Given the description of an element on the screen output the (x, y) to click on. 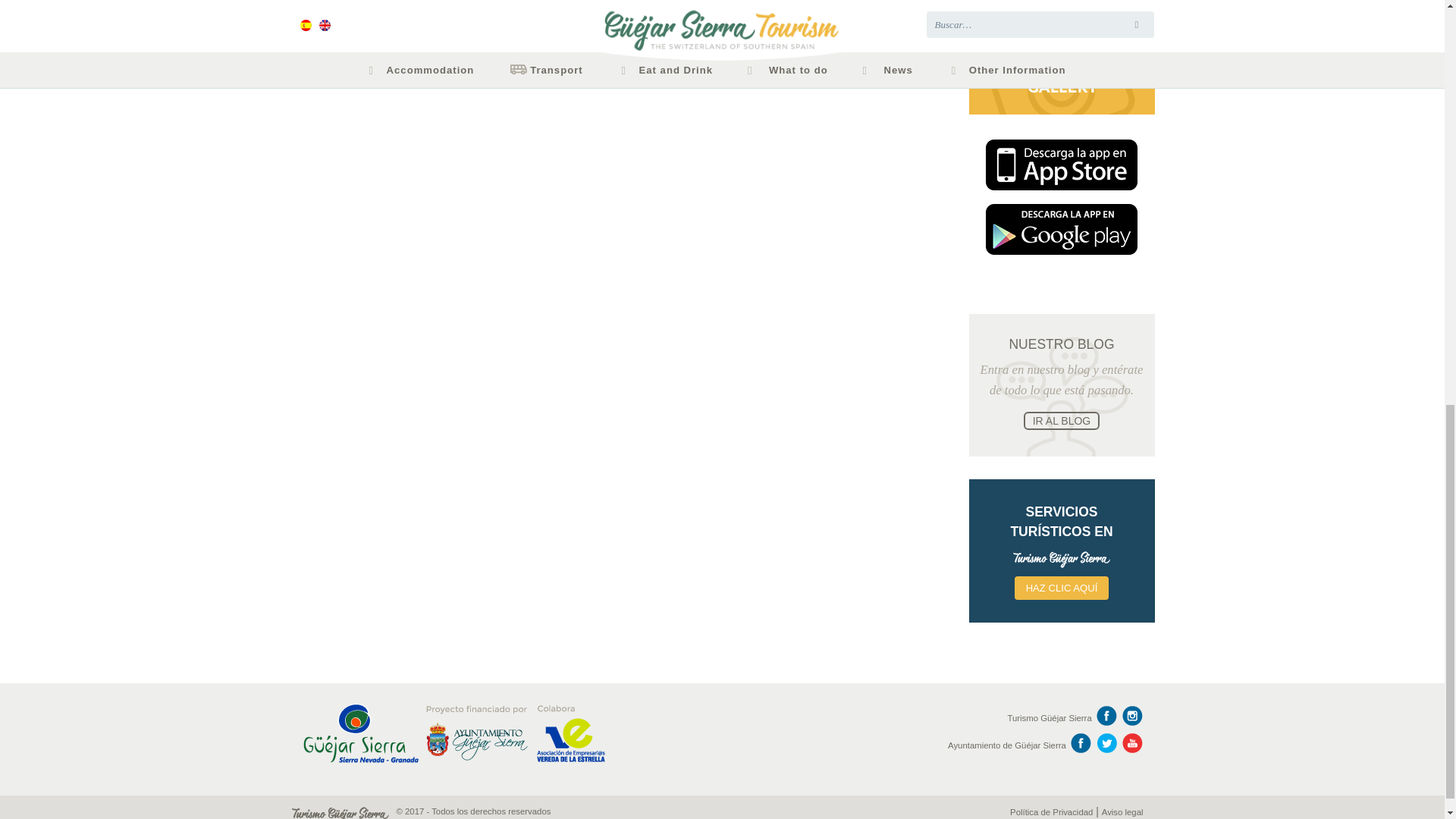
Aviso legal (1122, 811)
IR AL BLOG (1061, 420)
